Given the description of an element on the screen output the (x, y) to click on. 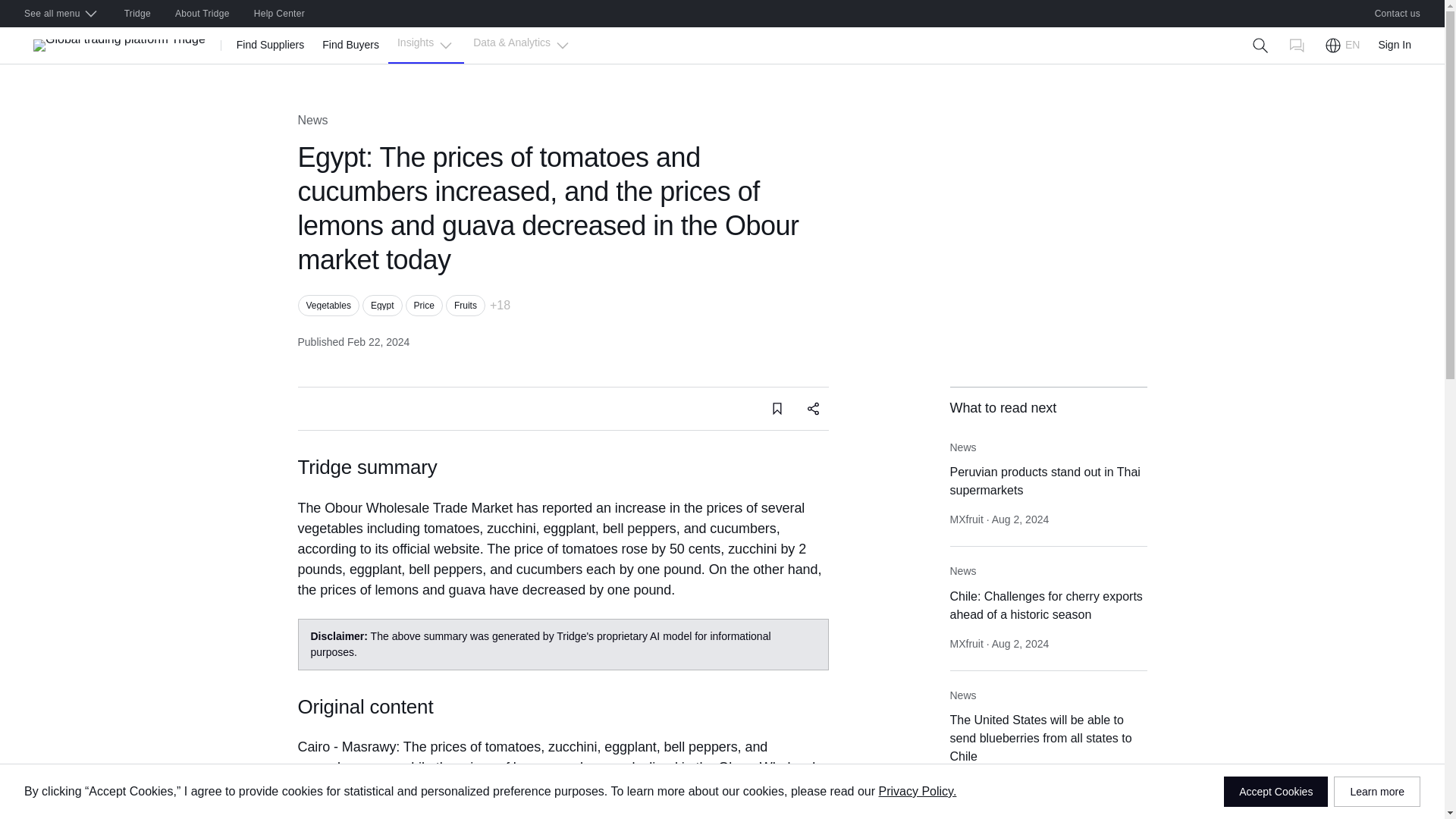
Contact us (1397, 13)
Tridge (137, 13)
See all menu (61, 13)
About Tridge (202, 13)
Help Center (279, 13)
